Given the description of an element on the screen output the (x, y) to click on. 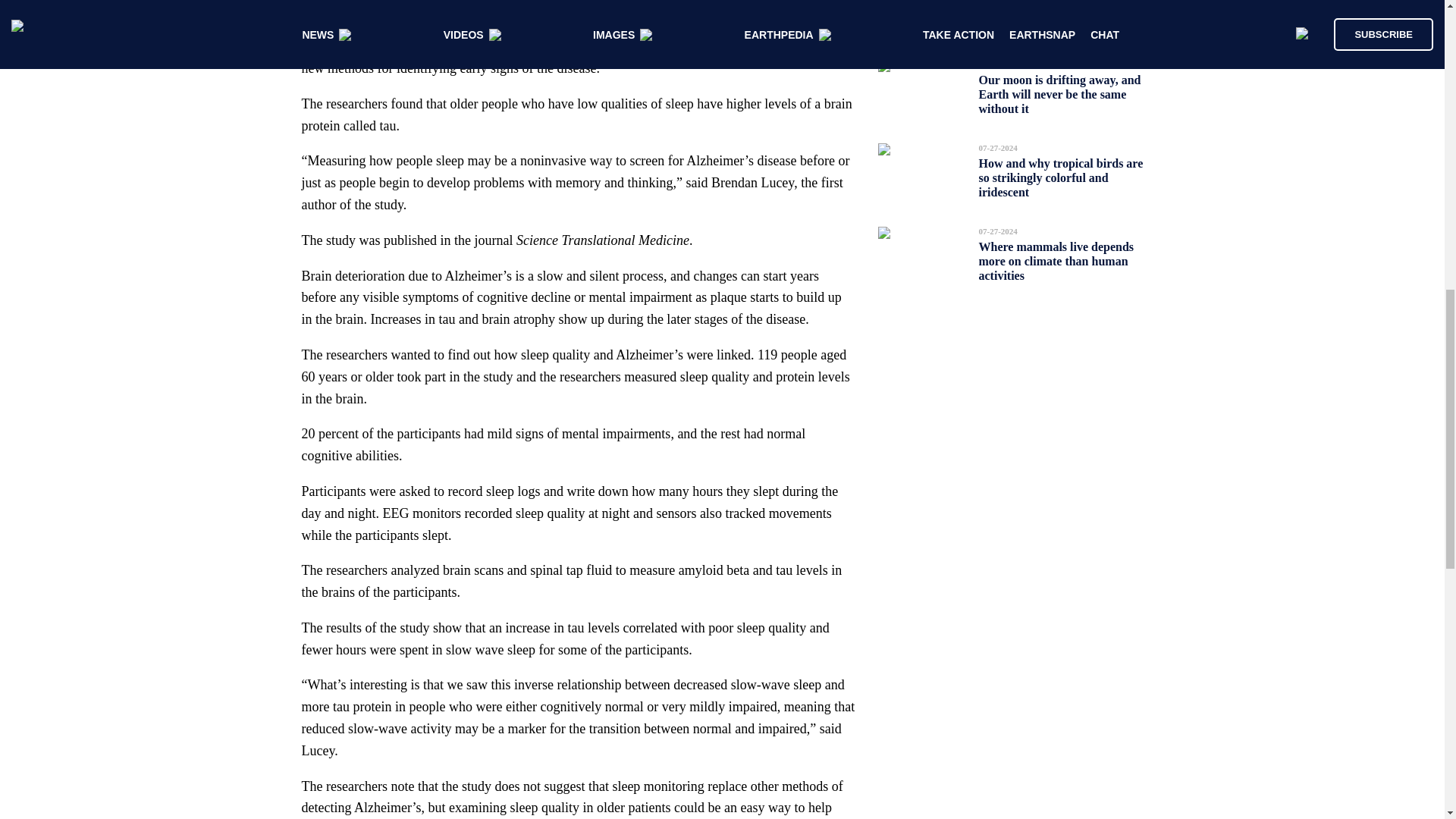
Washington University School of Medicine in St. Louis (572, 35)
Eat like a Neanderthal: Unpacking ancient cooking methods (1048, 19)
